Given the description of an element on the screen output the (x, y) to click on. 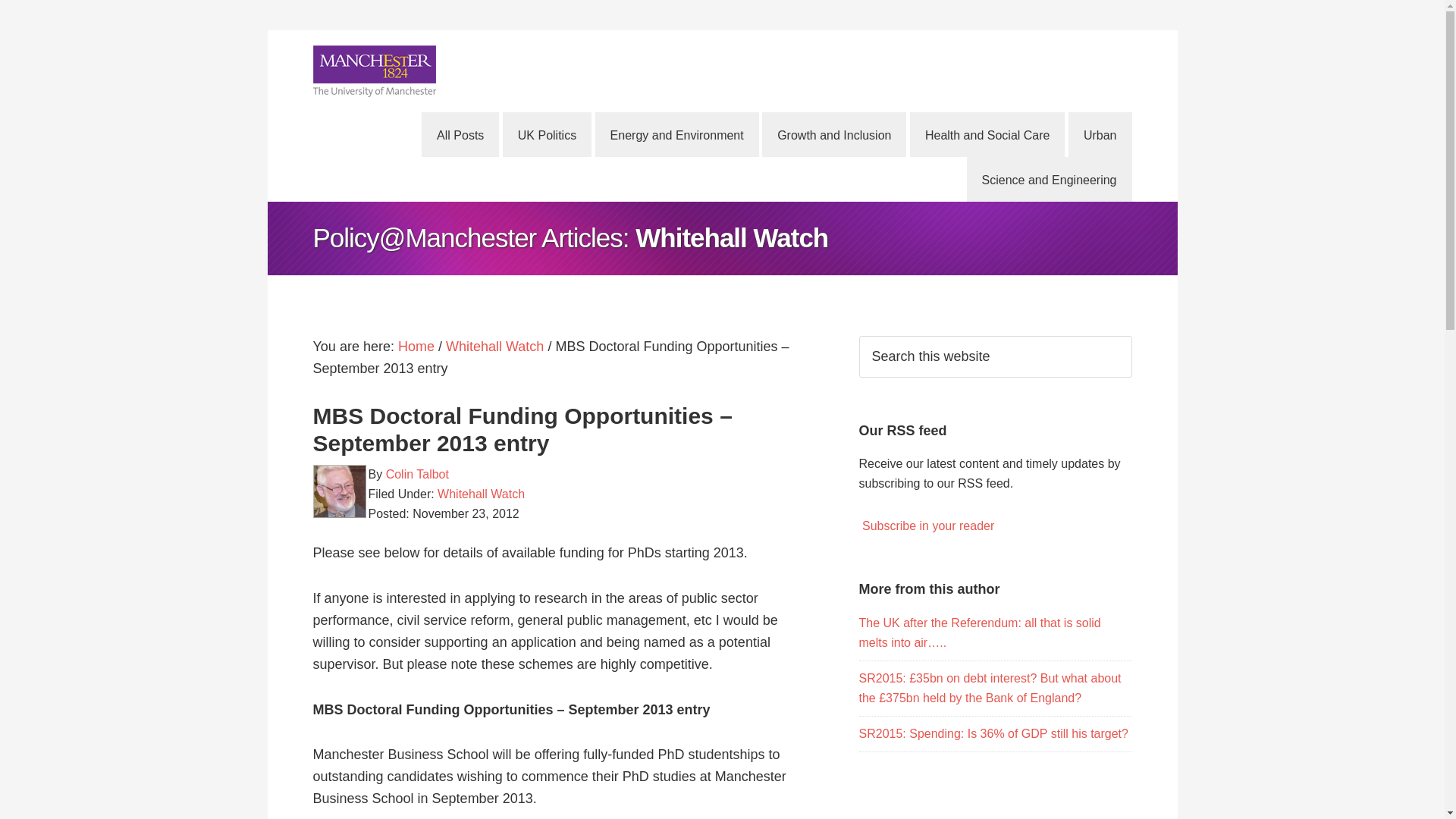
Urban (1100, 134)
Subscribe in your reader (927, 525)
Posts by Colin Talbot (416, 473)
Energy and Environment (676, 134)
Health and Social Care (987, 134)
All Posts (460, 134)
Science and Engineering (1049, 179)
Growth and Inclusion (833, 134)
UK Politics (546, 134)
Whitehall Watch (494, 346)
Colin Talbot (416, 473)
Whitehall Watch (481, 493)
